Given the description of an element on the screen output the (x, y) to click on. 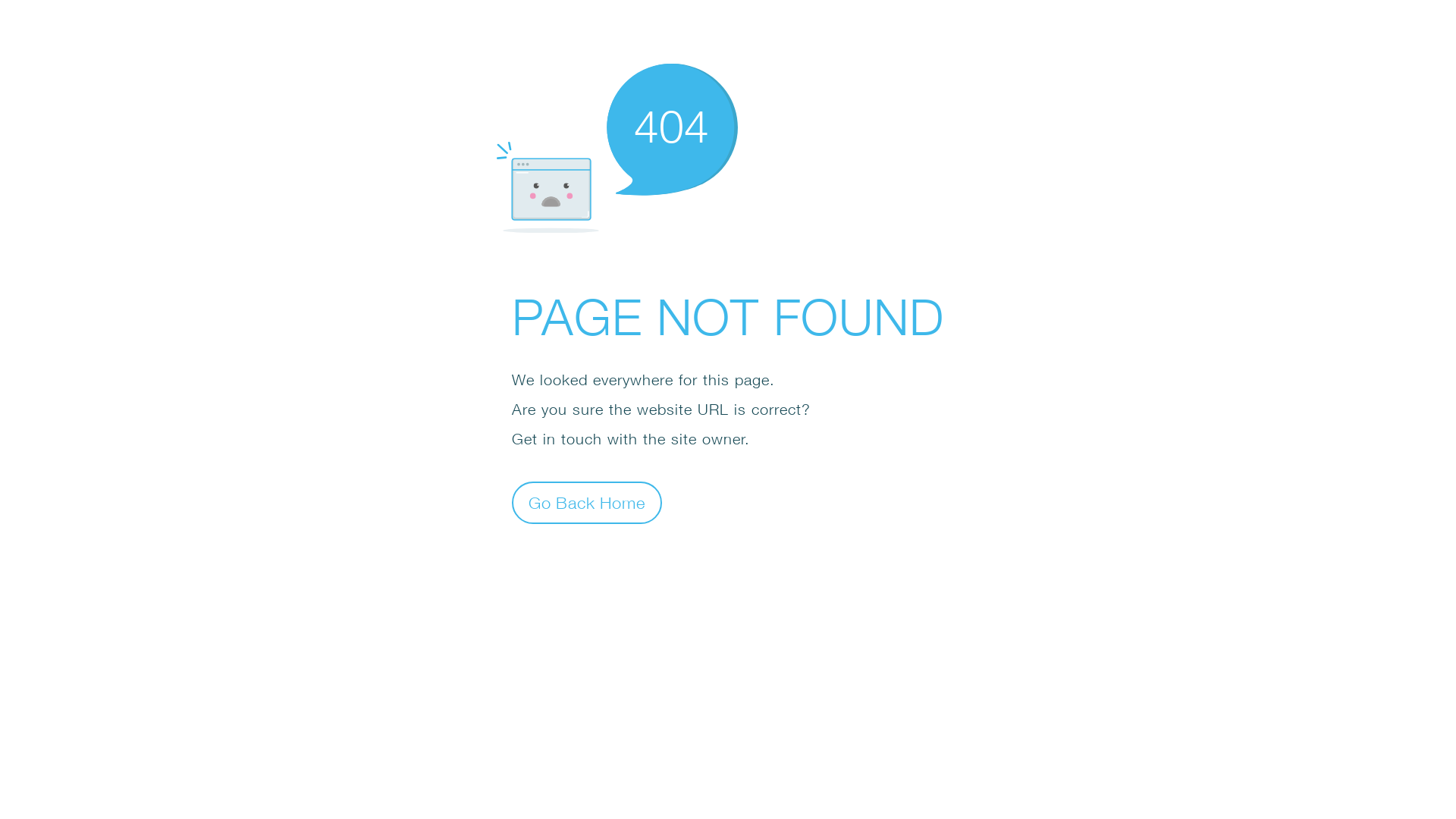
Go Back Home Element type: text (586, 502)
